Given the description of an element on the screen output the (x, y) to click on. 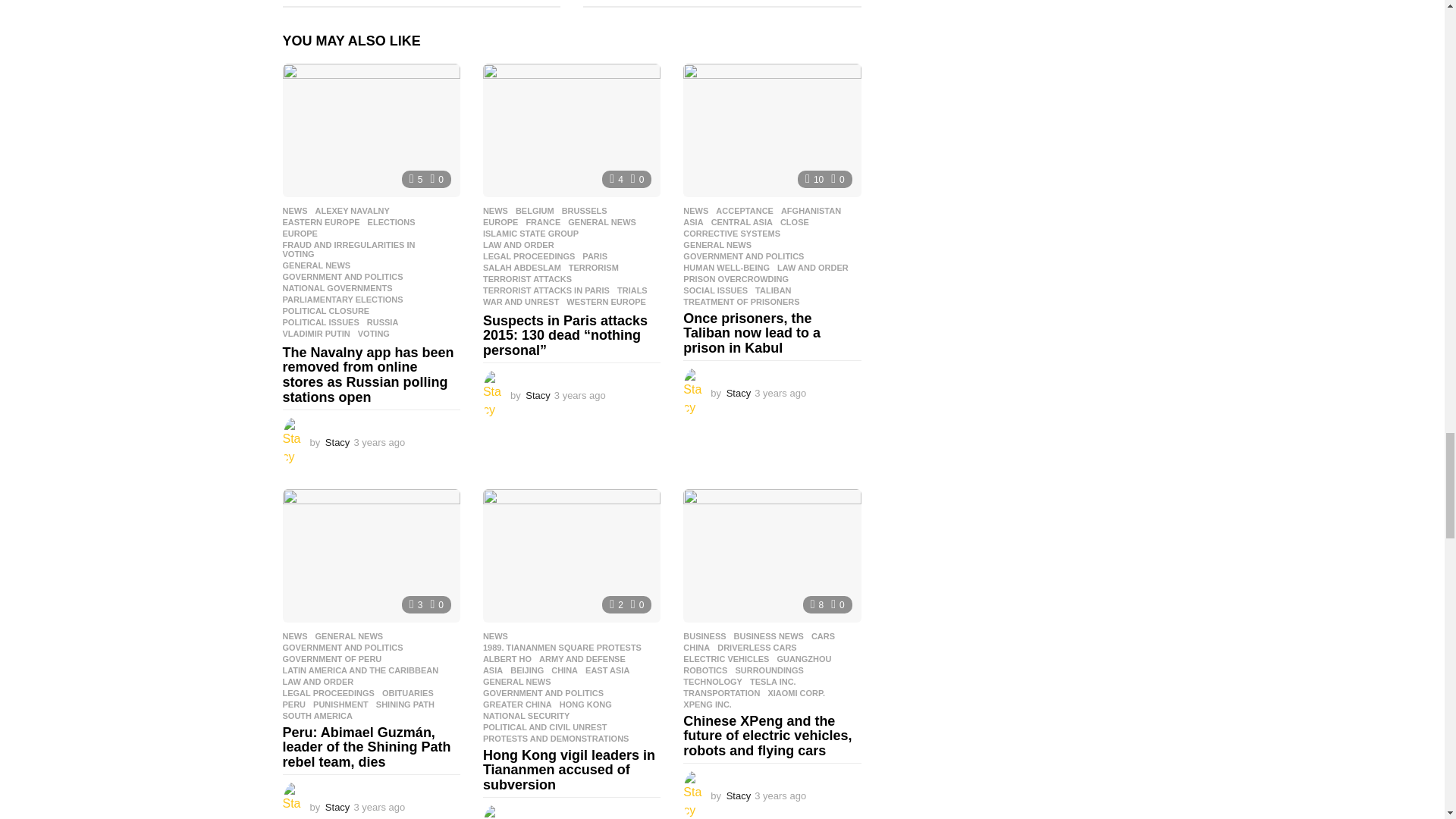
Once prisoners, the Taliban now lead to a prison in Kabul (771, 130)
Hong Kong vigil leaders in Tiananmen accused of subversion (572, 555)
